Given the description of an element on the screen output the (x, y) to click on. 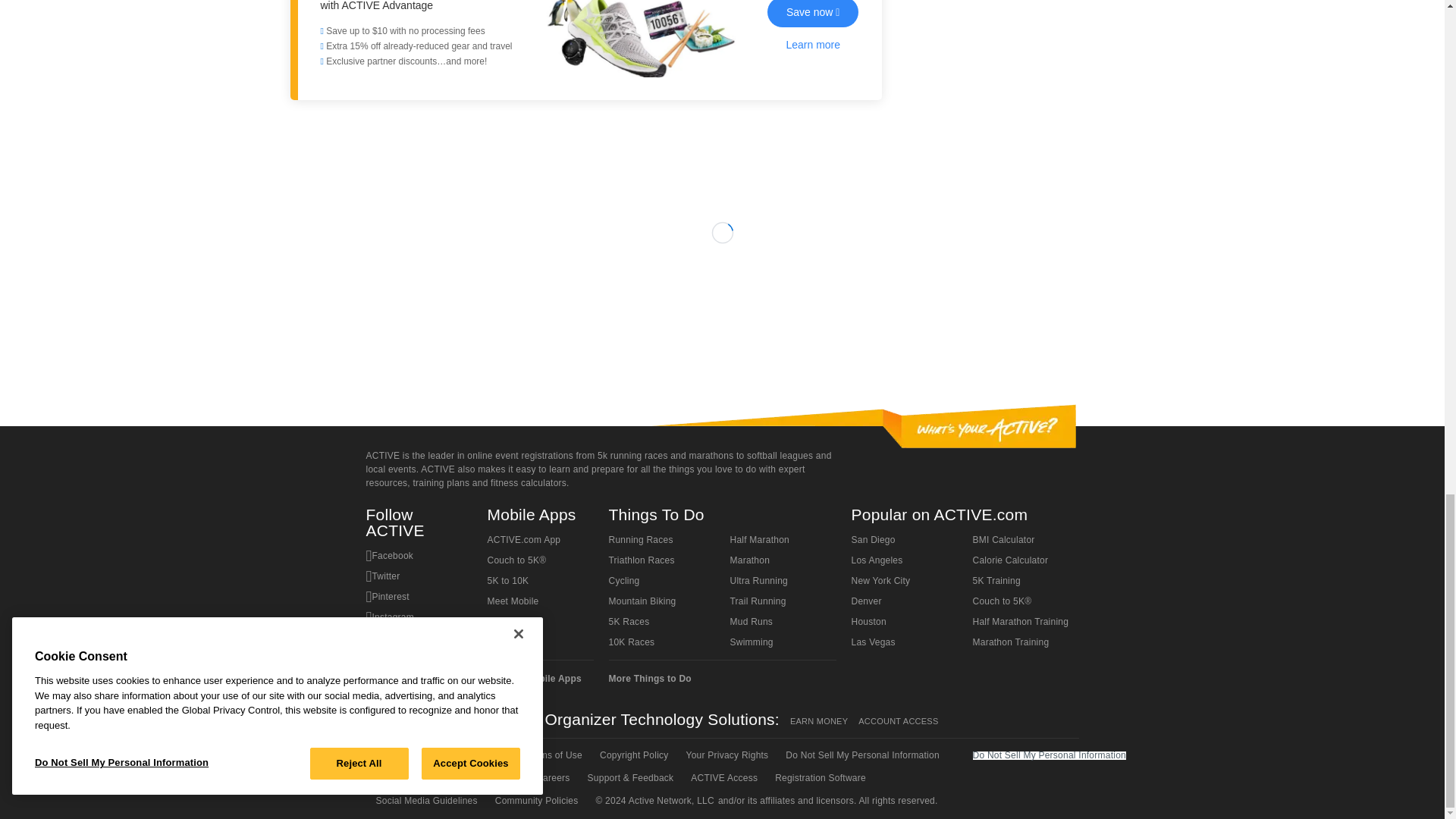
Copyright Policy (633, 754)
Careers at Active (550, 777)
3rd party ad content (722, 315)
Terms of Use (552, 754)
Cookie Policy (403, 777)
Privacy Settings (483, 777)
Do Not Sell My Personal Information (861, 754)
Your Privacy Rights: Updated (726, 754)
